Given the description of an element on the screen output the (x, y) to click on. 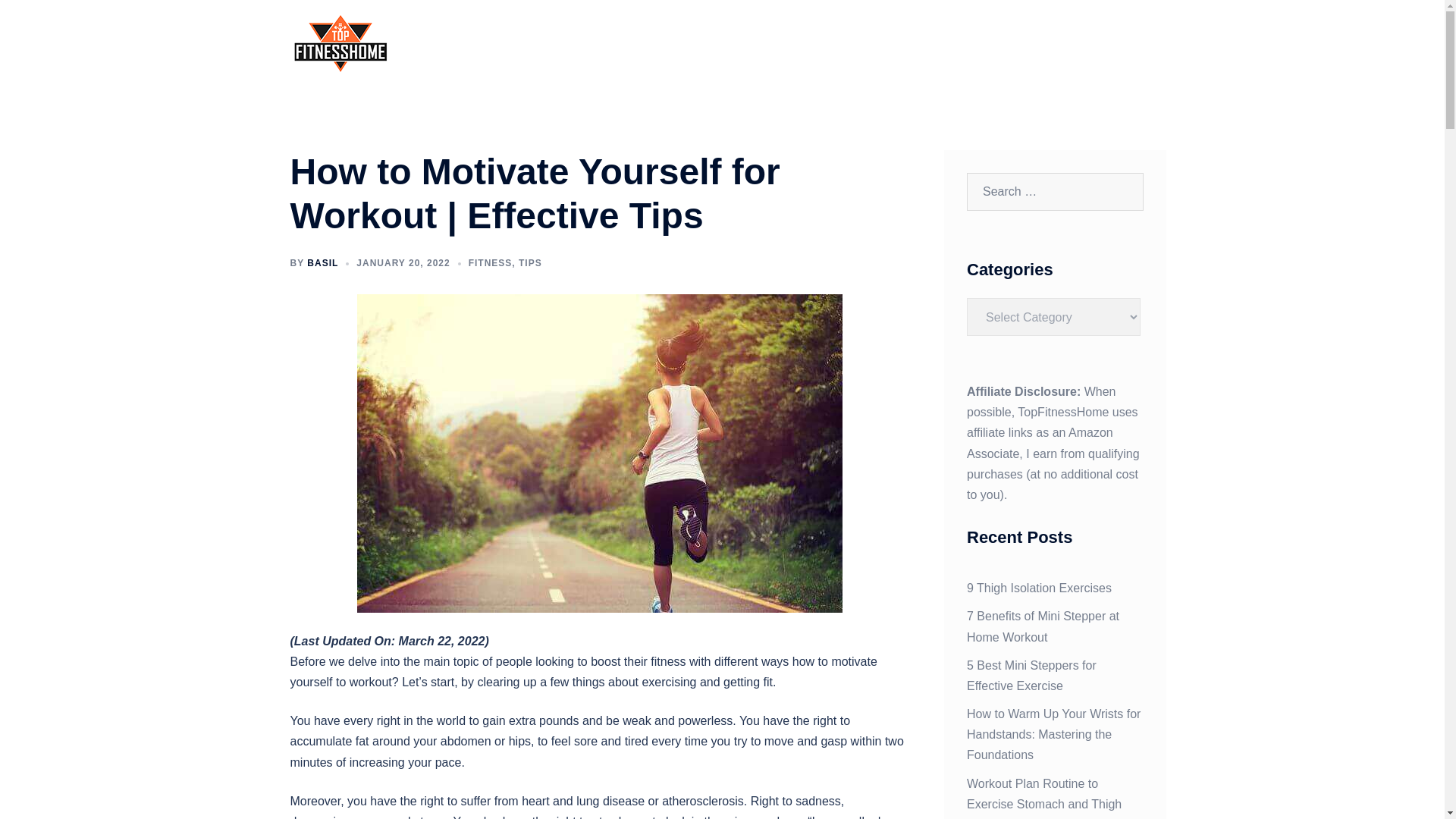
About Us (1130, 44)
About (1130, 44)
Reviews (1074, 44)
FITNESS (490, 262)
TIPS (529, 262)
Top Fitness Home Page (820, 44)
Exercise (960, 44)
Top Fitness Home (339, 42)
BASIL (322, 262)
JANUARY 20, 2022 (402, 262)
Recent Posts (888, 44)
Health (1018, 44)
Top Fitness Home Recent Posts (888, 44)
Home (820, 44)
